Given the description of an element on the screen output the (x, y) to click on. 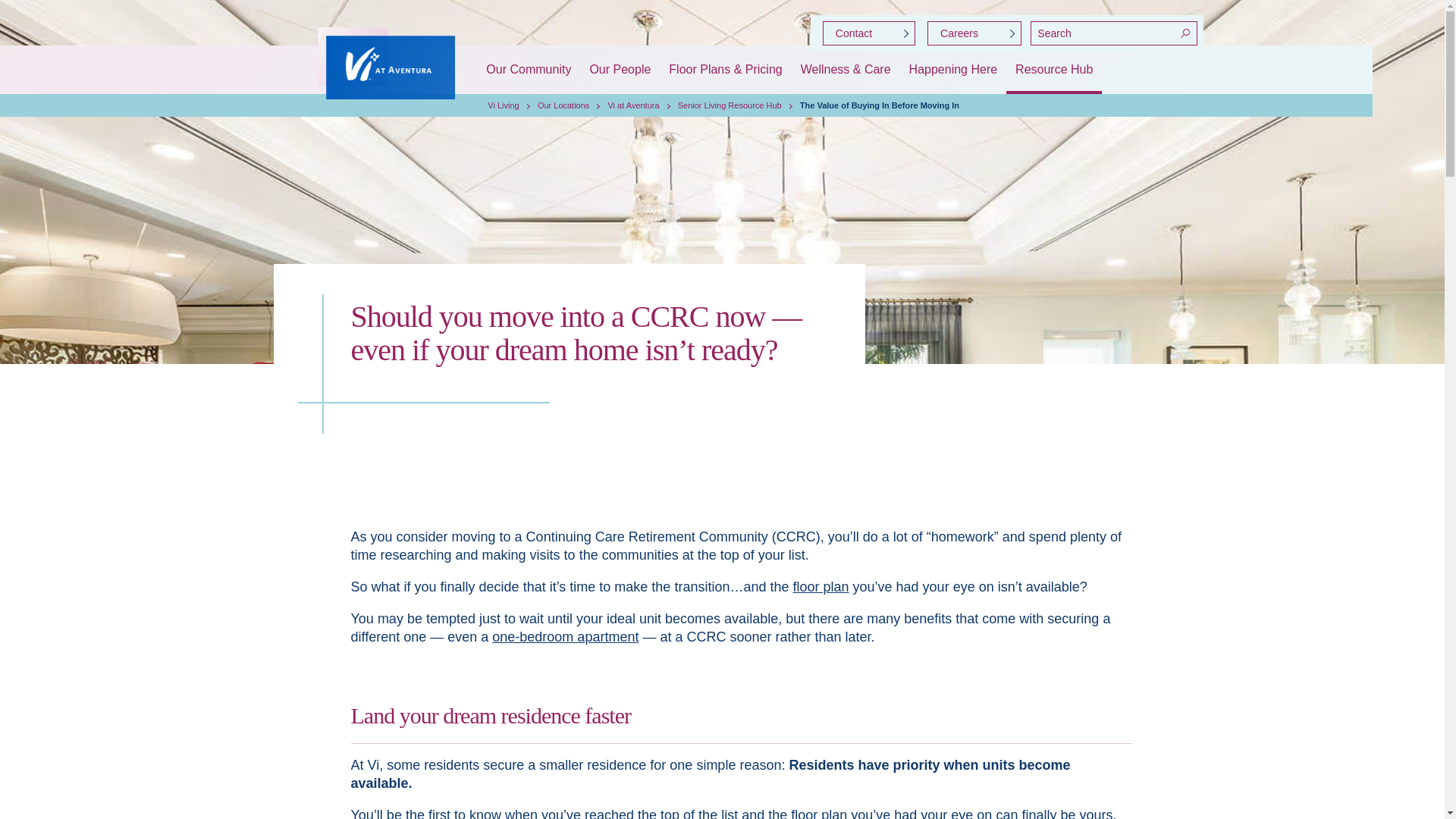
Search! (1184, 33)
Vi Living (502, 104)
Careers (974, 33)
Contact (868, 33)
Resource Hub (1054, 69)
